Given the description of an element on the screen output the (x, y) to click on. 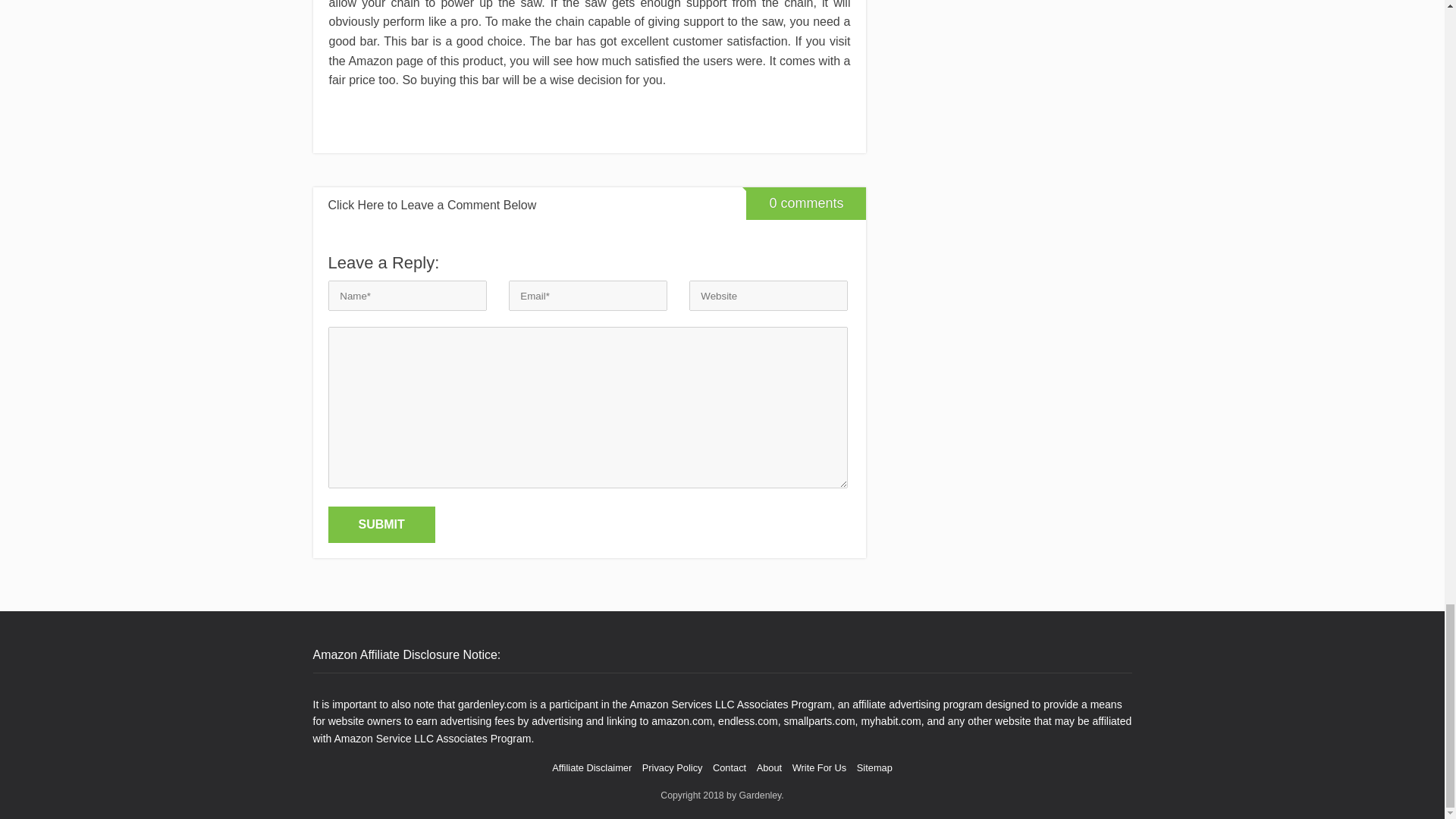
SUBMIT (380, 524)
